Given the description of an element on the screen output the (x, y) to click on. 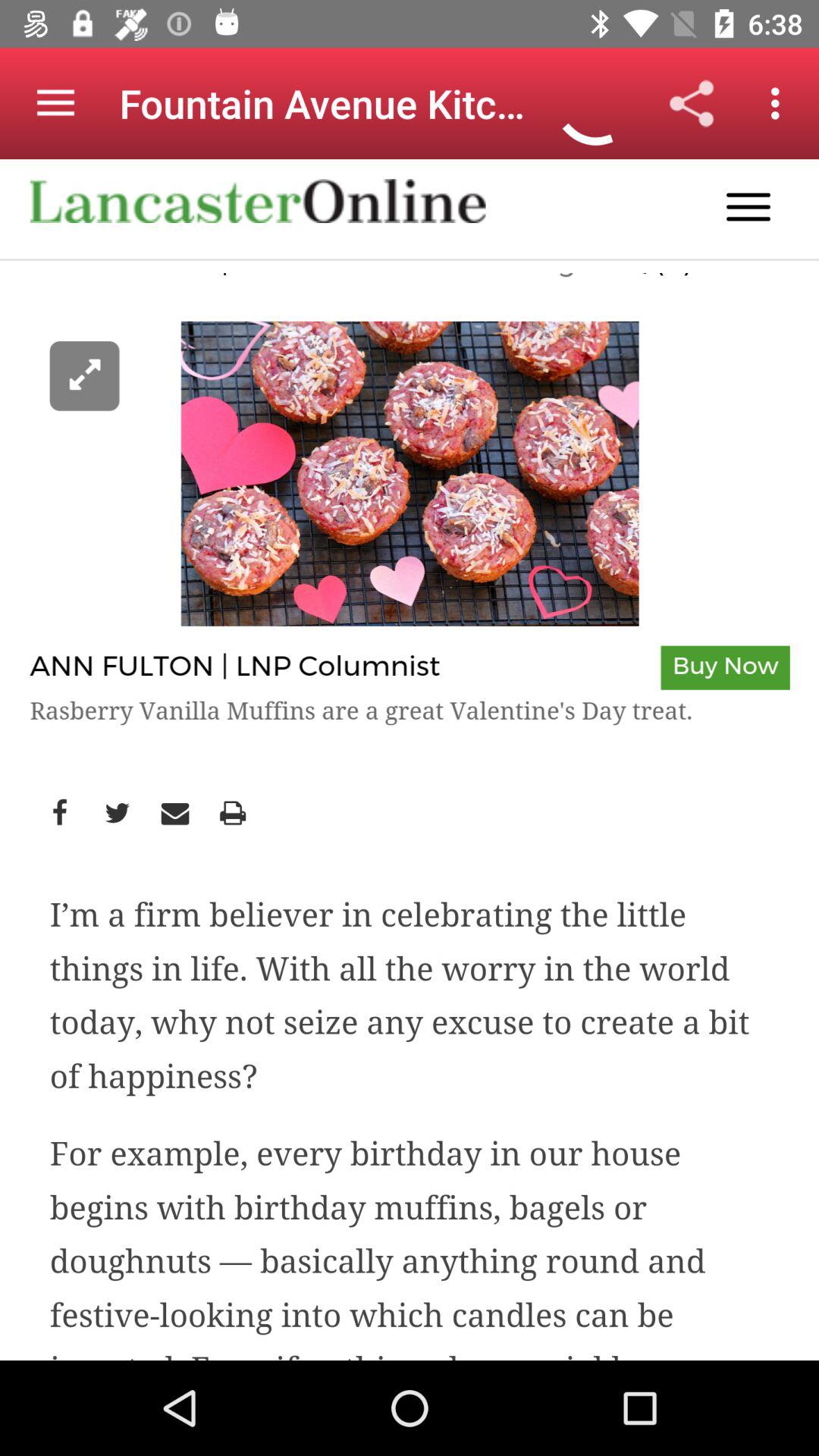
this is result of searched data (409, 759)
